Given the description of an element on the screen output the (x, y) to click on. 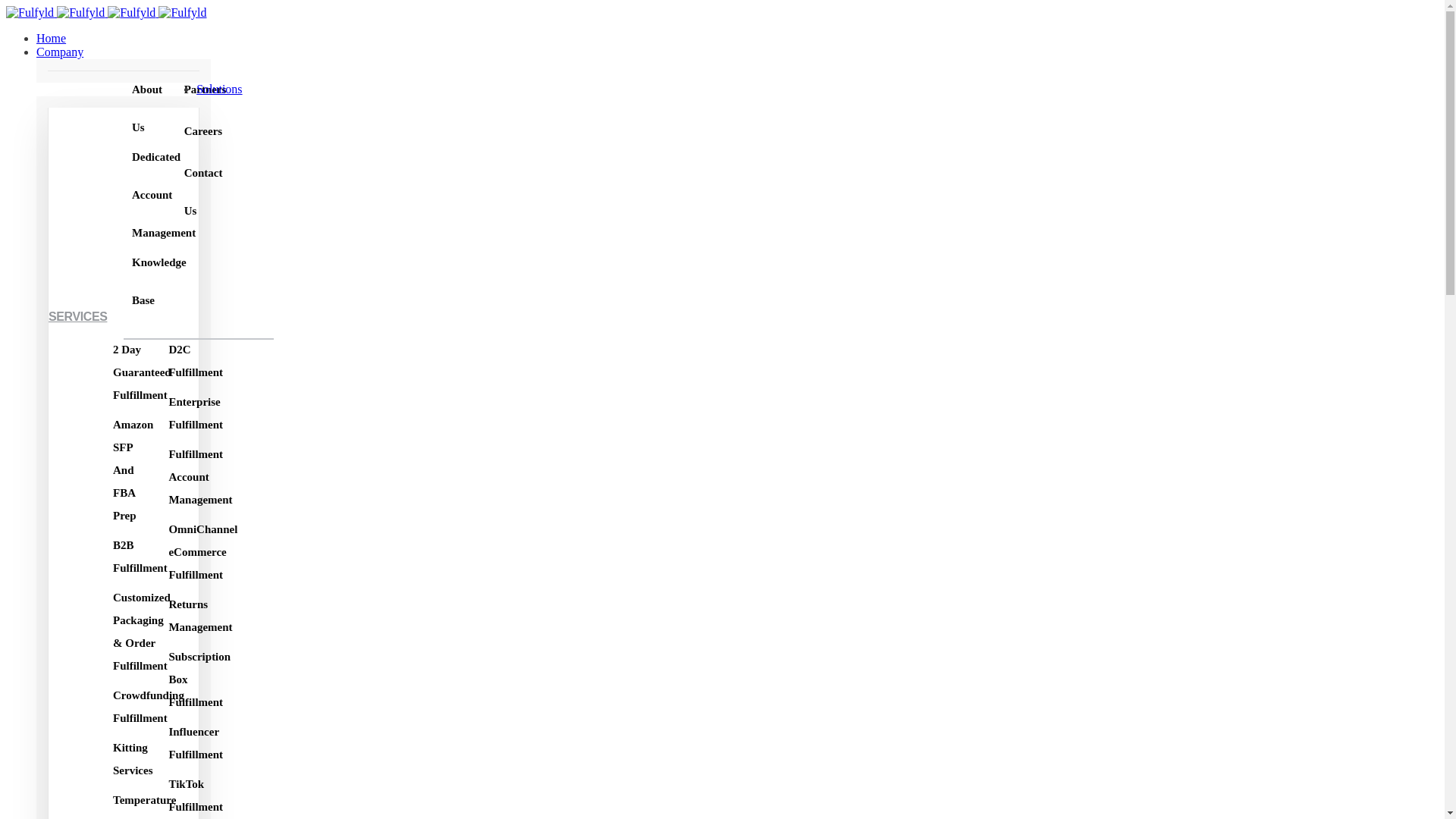
Fulfillment Account Management (184, 454)
Subscription Box Fulfillment (184, 656)
Company (59, 51)
SERVICES (77, 316)
Contact Us (182, 172)
Influencer Fulfillment (180, 731)
Temperature Controlled Fulfillment (129, 799)
Kitting Services (117, 747)
D2C Fulfillment (180, 349)
Dedicated Account Management (142, 157)
